Given the description of an element on the screen output the (x, y) to click on. 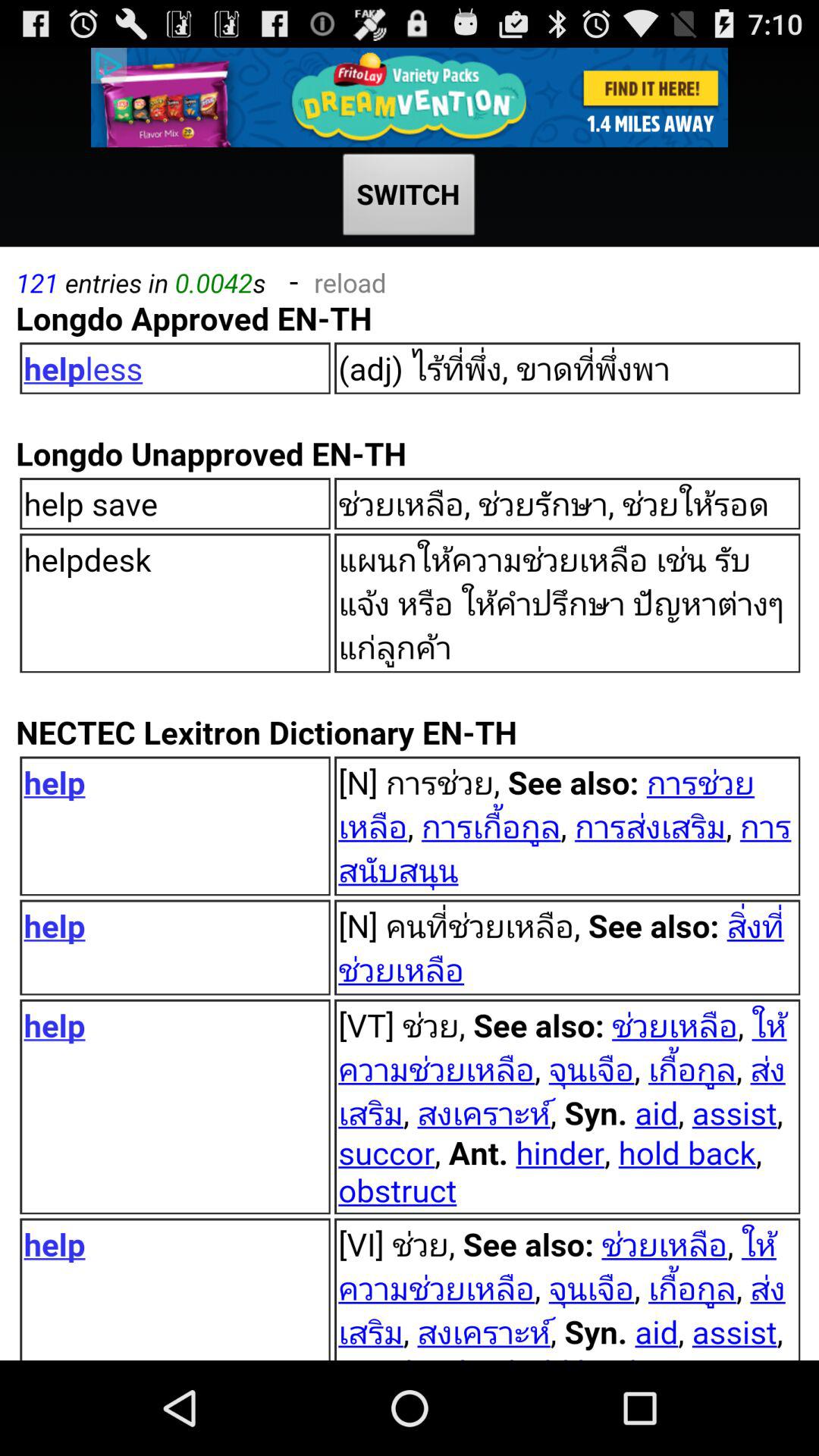
select advertisement (409, 97)
